Given the description of an element on the screen output the (x, y) to click on. 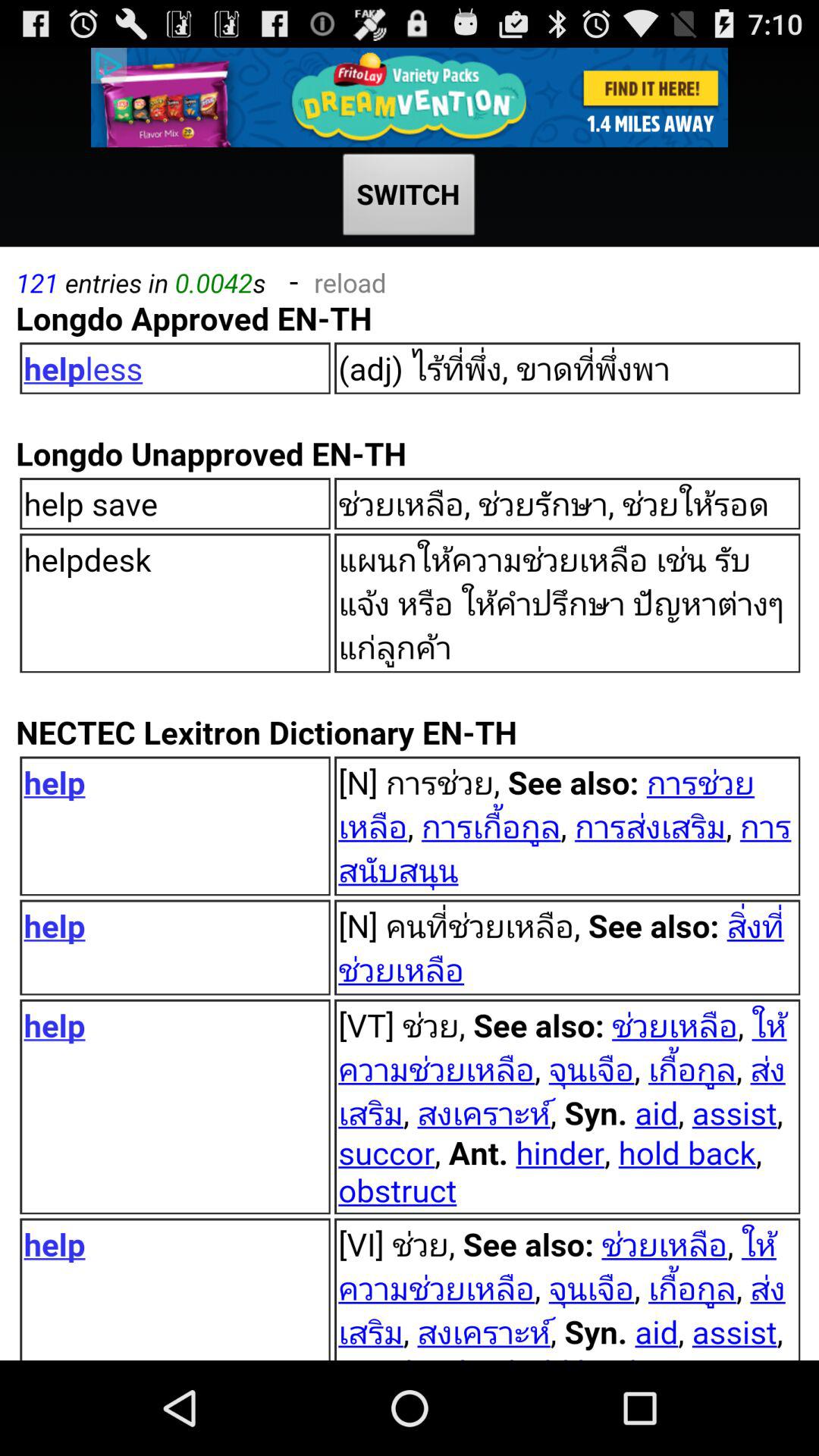
select advertisement (409, 97)
